Given the description of an element on the screen output the (x, y) to click on. 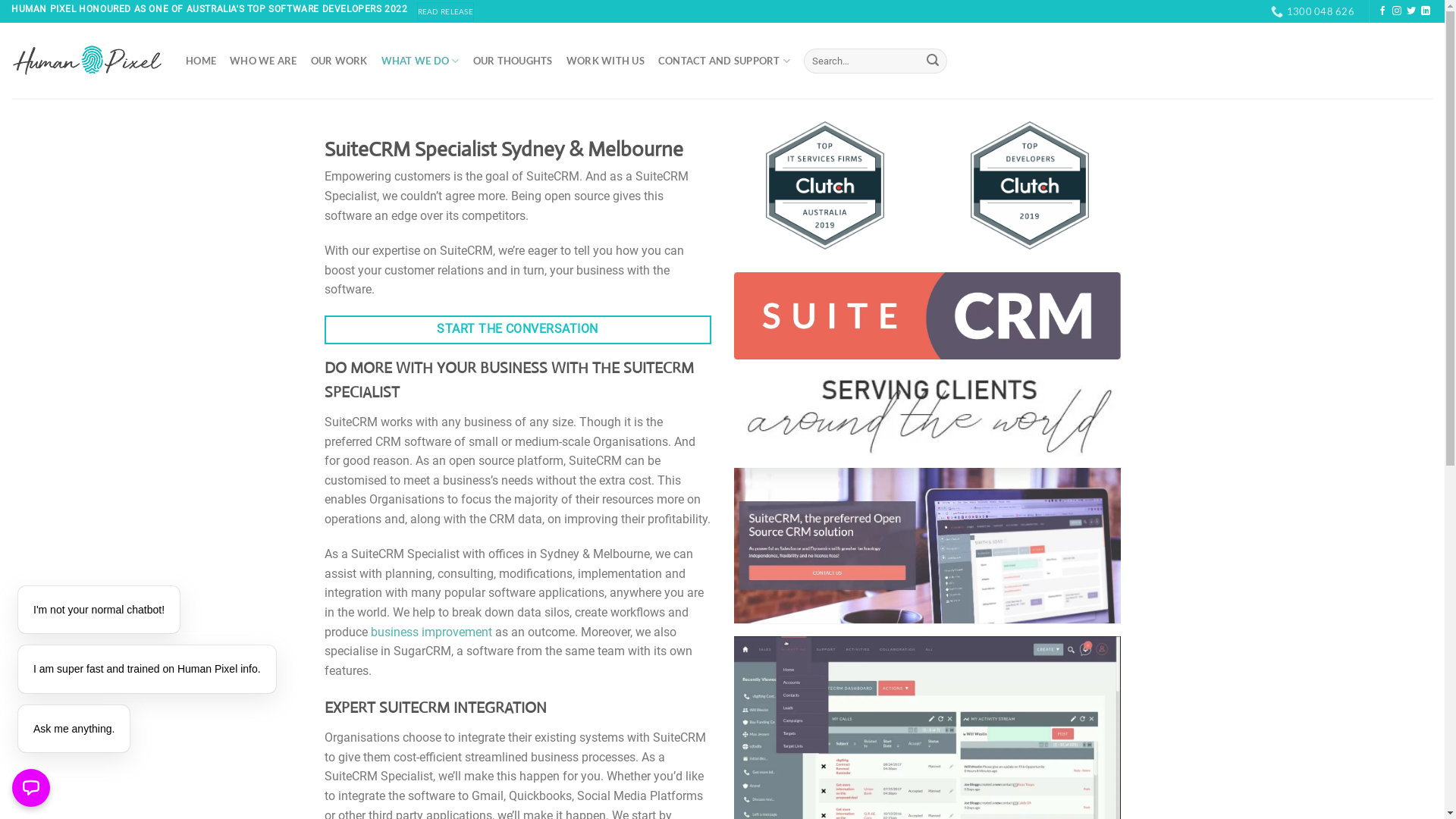
WHO WE ARE Element type: text (263, 60)
1300 048 626 Element type: text (1312, 11)
business improvement Element type: text (430, 631)
WORK WITH US Element type: text (605, 60)
OUR THOUGHTS Element type: text (512, 60)
OUR WORK Element type: text (338, 60)
HOME Element type: text (200, 60)
START THE CONVERSATION Element type: text (517, 330)
CONTACT AND SUPPORT Element type: text (724, 60)
WHAT WE DO Element type: text (420, 60)
READ RELEASE Element type: text (445, 11)
